Given the description of an element on the screen output the (x, y) to click on. 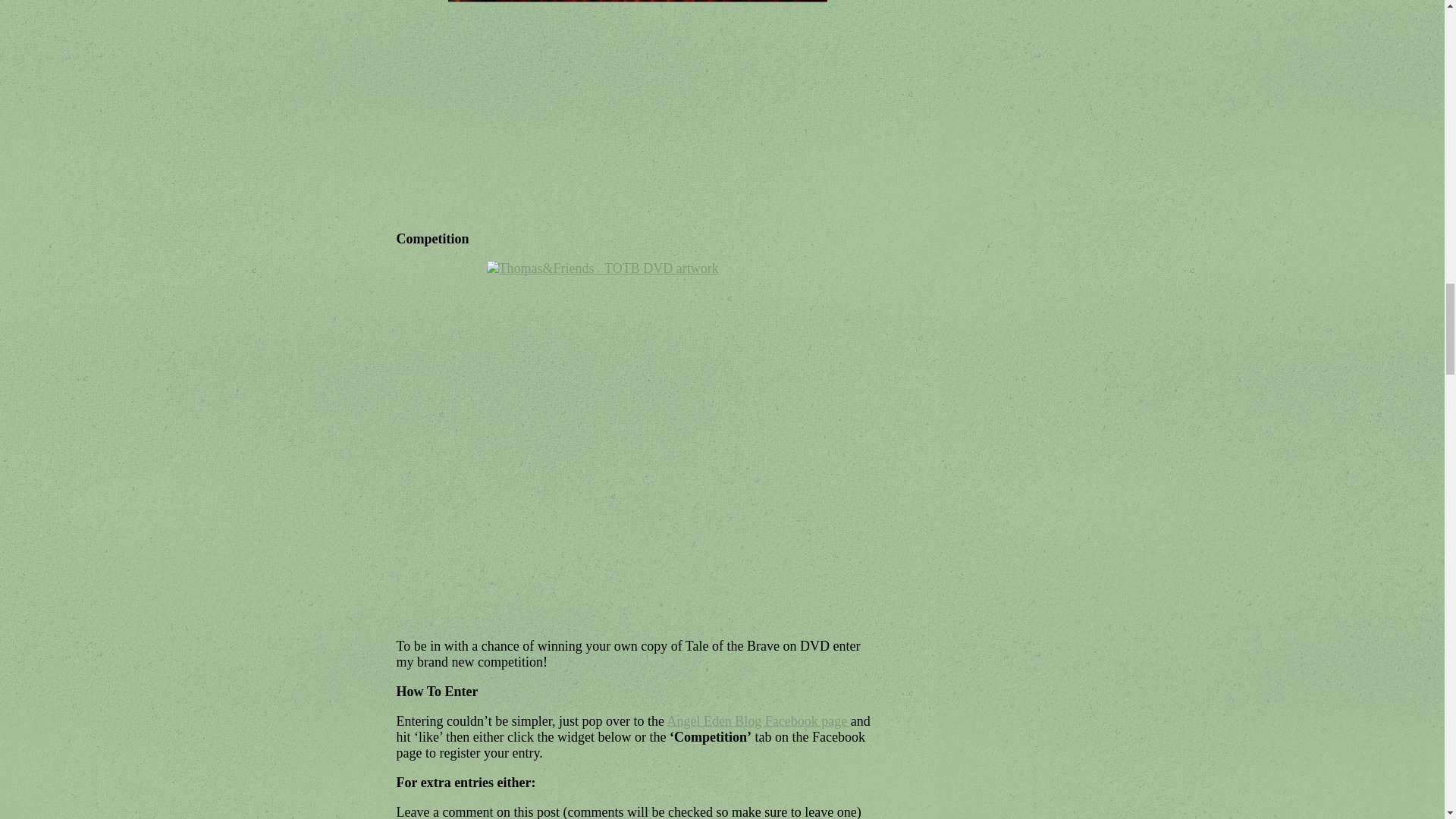
Angel Eden Blog Facebook page (758, 720)
